Given the description of an element on the screen output the (x, y) to click on. 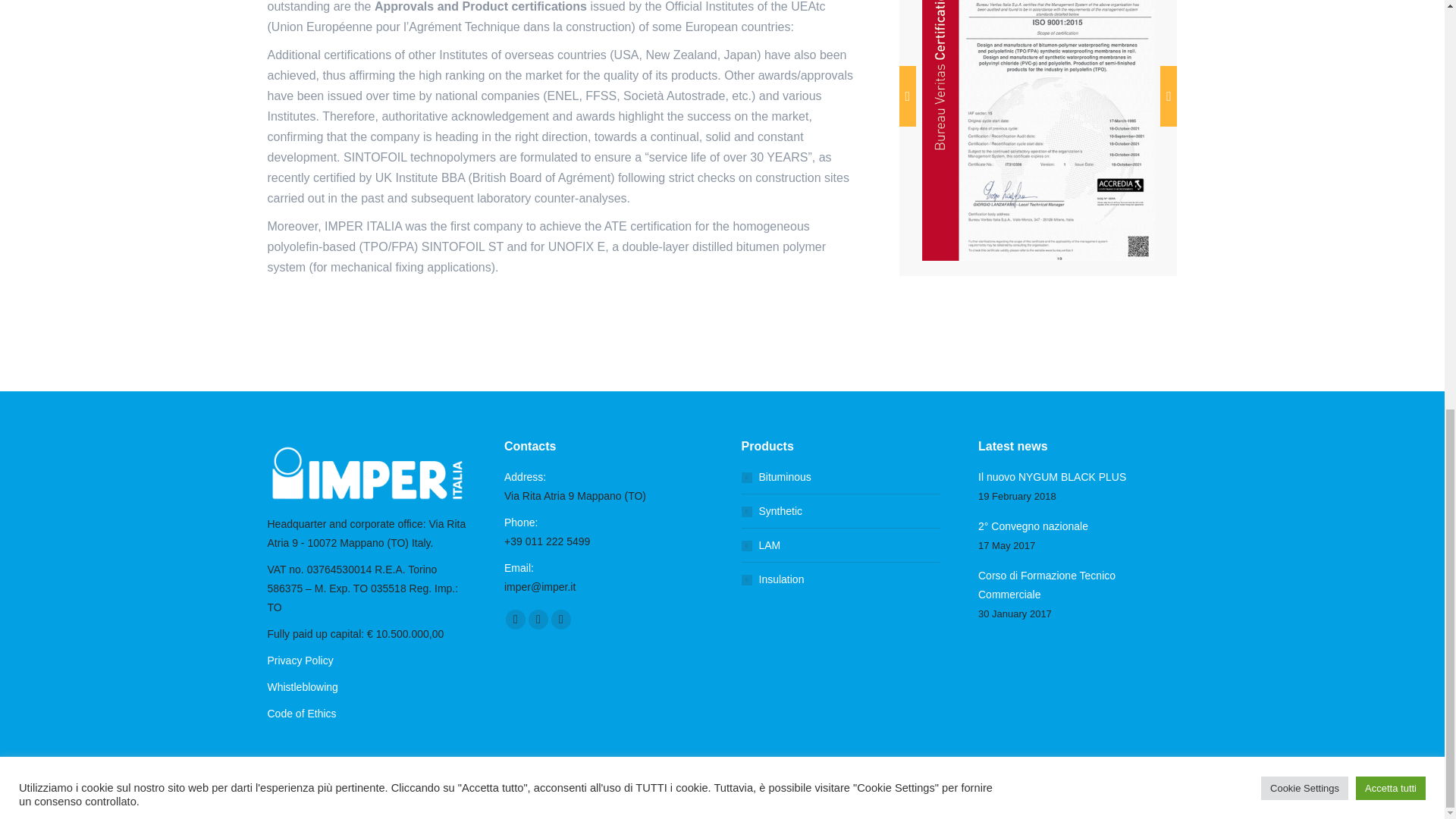
YouTube page opens in new window (538, 619)
Facebook page opens in new window (515, 619)
Linkedin page opens in new window (560, 619)
